Given the description of an element on the screen output the (x, y) to click on. 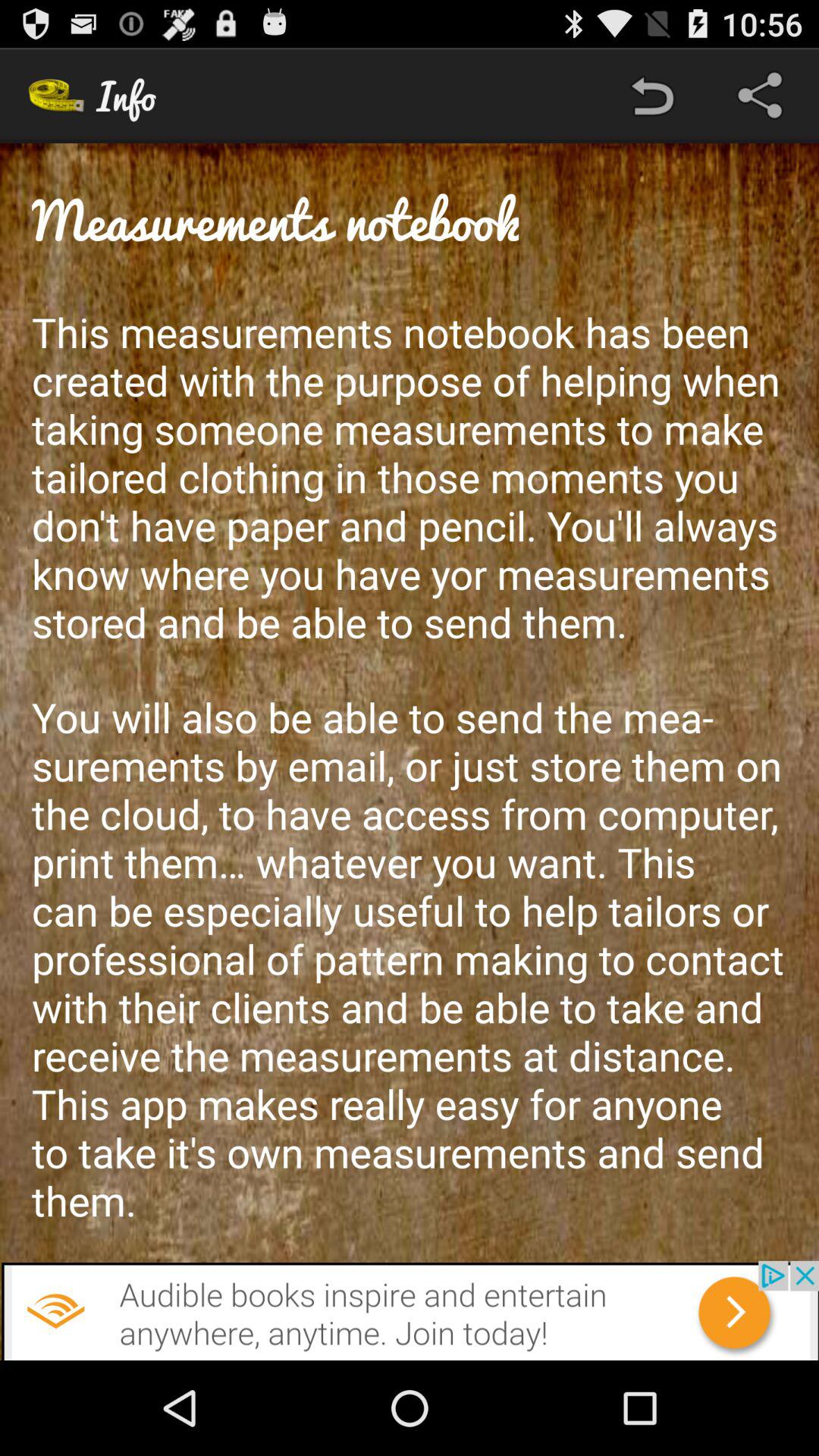
for add (409, 1310)
